Given the description of an element on the screen output the (x, y) to click on. 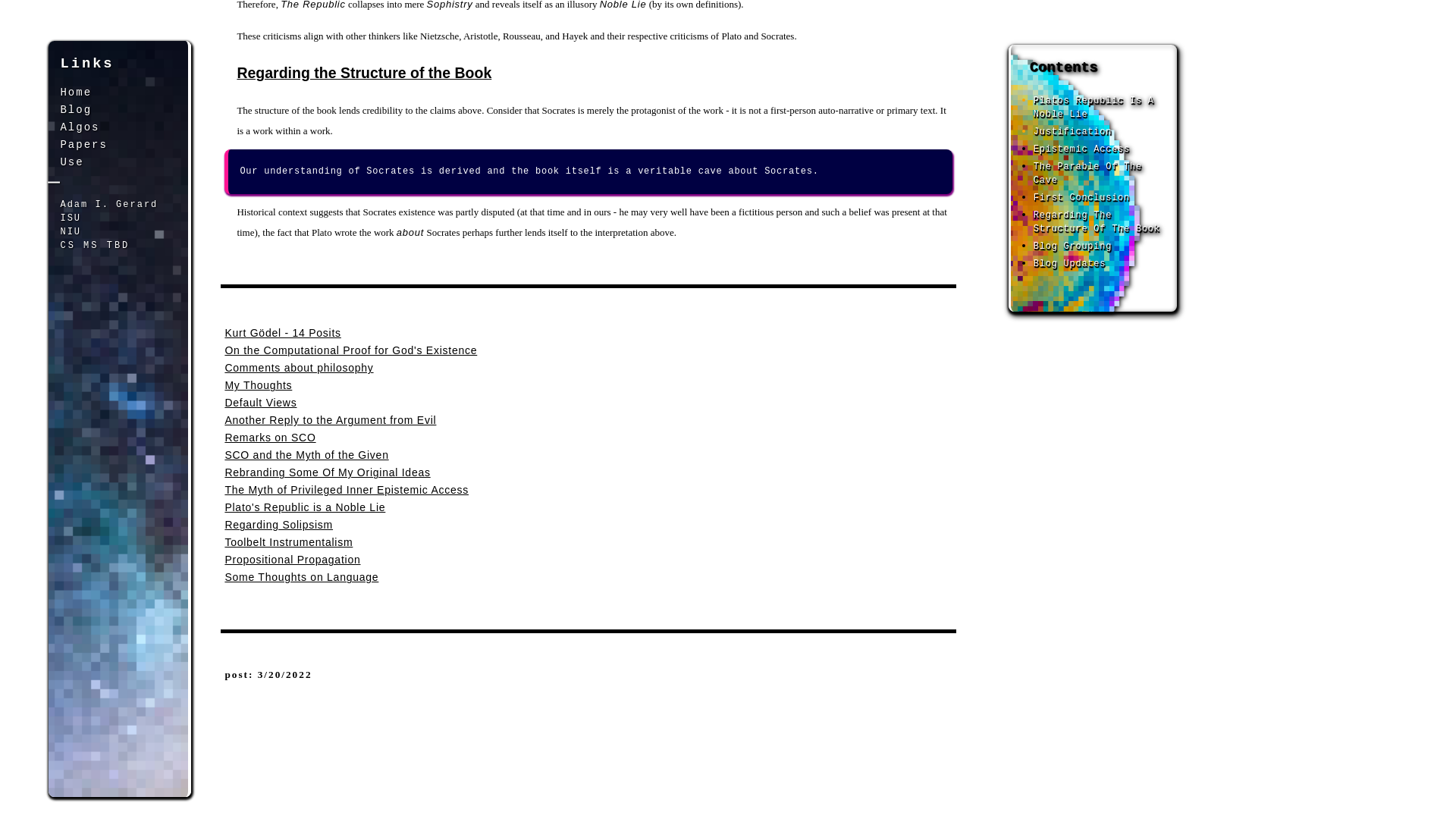
Rebranding Some Of My Original Ideas (326, 472)
Another Reply to the Argument from Evil (329, 419)
SCO and the Myth of the Given (306, 454)
On the Computational Proof for God's Existence (350, 349)
Propositional Propagation (291, 559)
The Myth of Privileged Inner Epistemic Access (346, 490)
Default Views (260, 402)
My Thoughts (258, 385)
Remarks on SCO (269, 437)
Comments about philosophy (298, 367)
Regarding Solipsism (278, 524)
Plato's Republic is a Noble Lie (304, 507)
Toolbelt Instrumentalism (288, 541)
Some Thoughts on Language (301, 576)
